Given the description of an element on the screen output the (x, y) to click on. 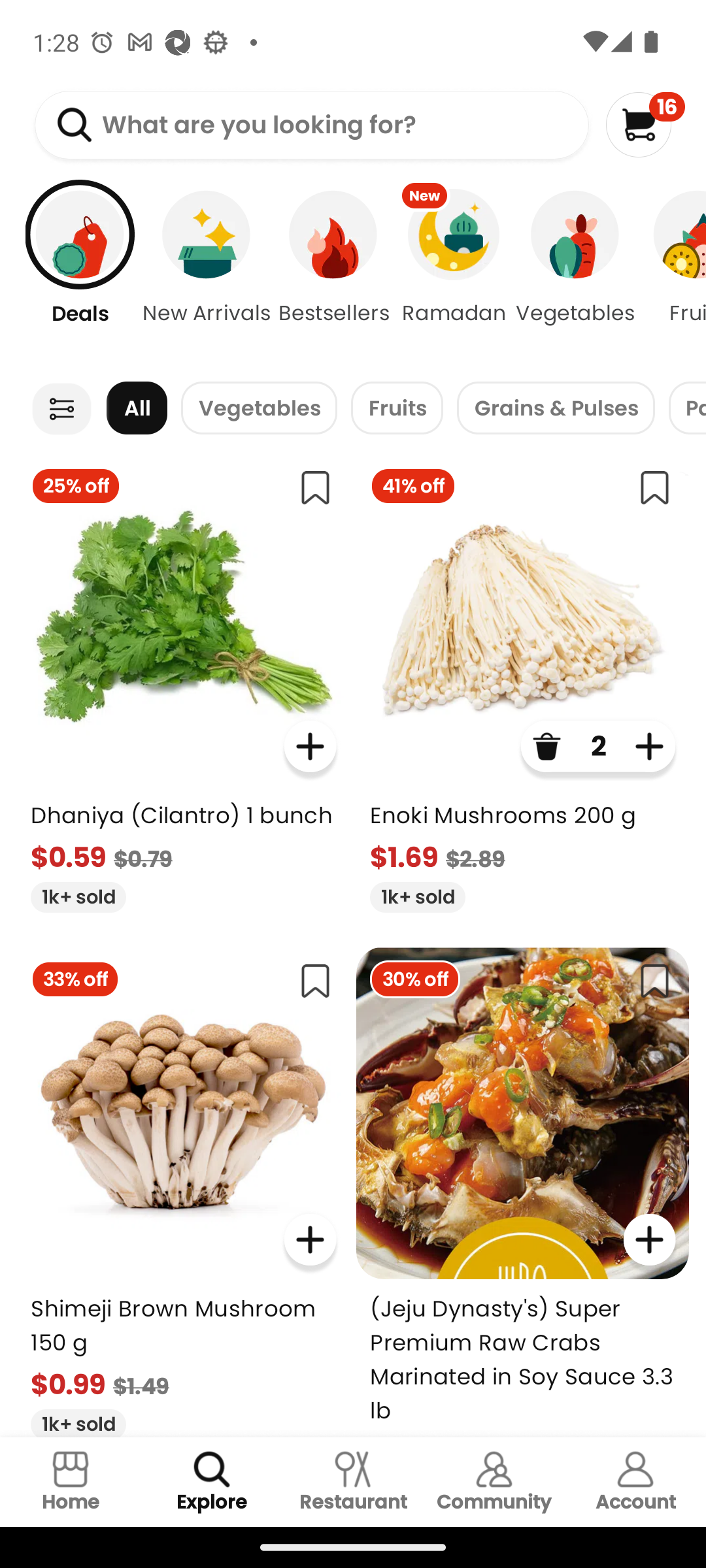
What are you looking for? (311, 124)
16 (644, 124)
Deals (70, 274)
New Arrivals (206, 274)
Bestsellers (333, 274)
New Ramadan (453, 274)
Vegetables (575, 274)
All (136, 407)
Vegetables (258, 407)
Fruits (396, 407)
Grains & Pulses (555, 407)
Home (70, 1482)
Explore (211, 1482)
Restaurant (352, 1482)
Community (493, 1482)
Account (635, 1482)
